Given the description of an element on the screen output the (x, y) to click on. 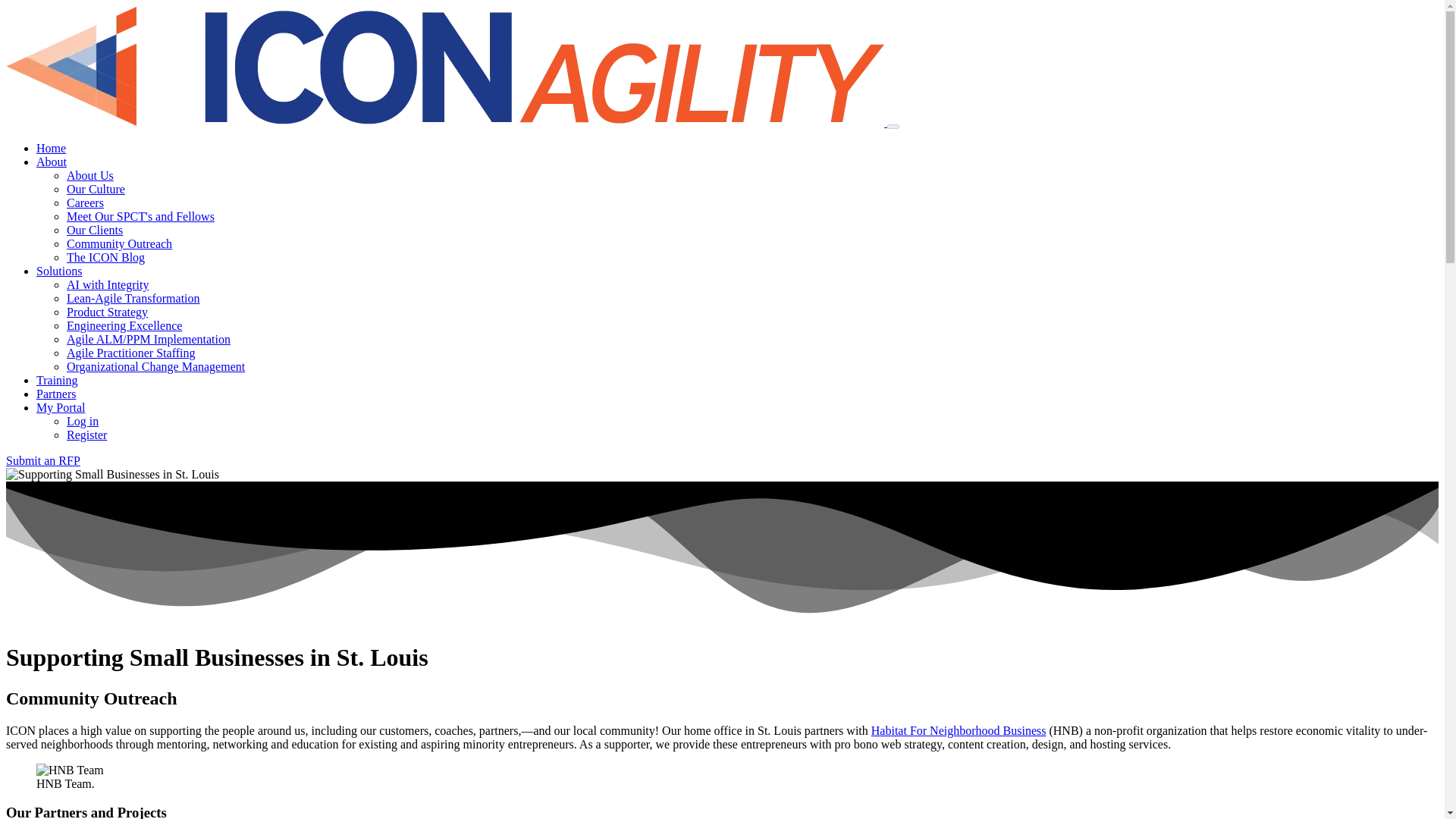
Home (50, 147)
Engineering Excellence (124, 325)
Register (86, 434)
Training (57, 379)
Habitat For Neighborhood Business (958, 730)
The ICON Blog (105, 256)
Community Outreach (118, 243)
About (51, 161)
Organizational Change Management (155, 366)
Product Strategy (107, 311)
